Given the description of an element on the screen output the (x, y) to click on. 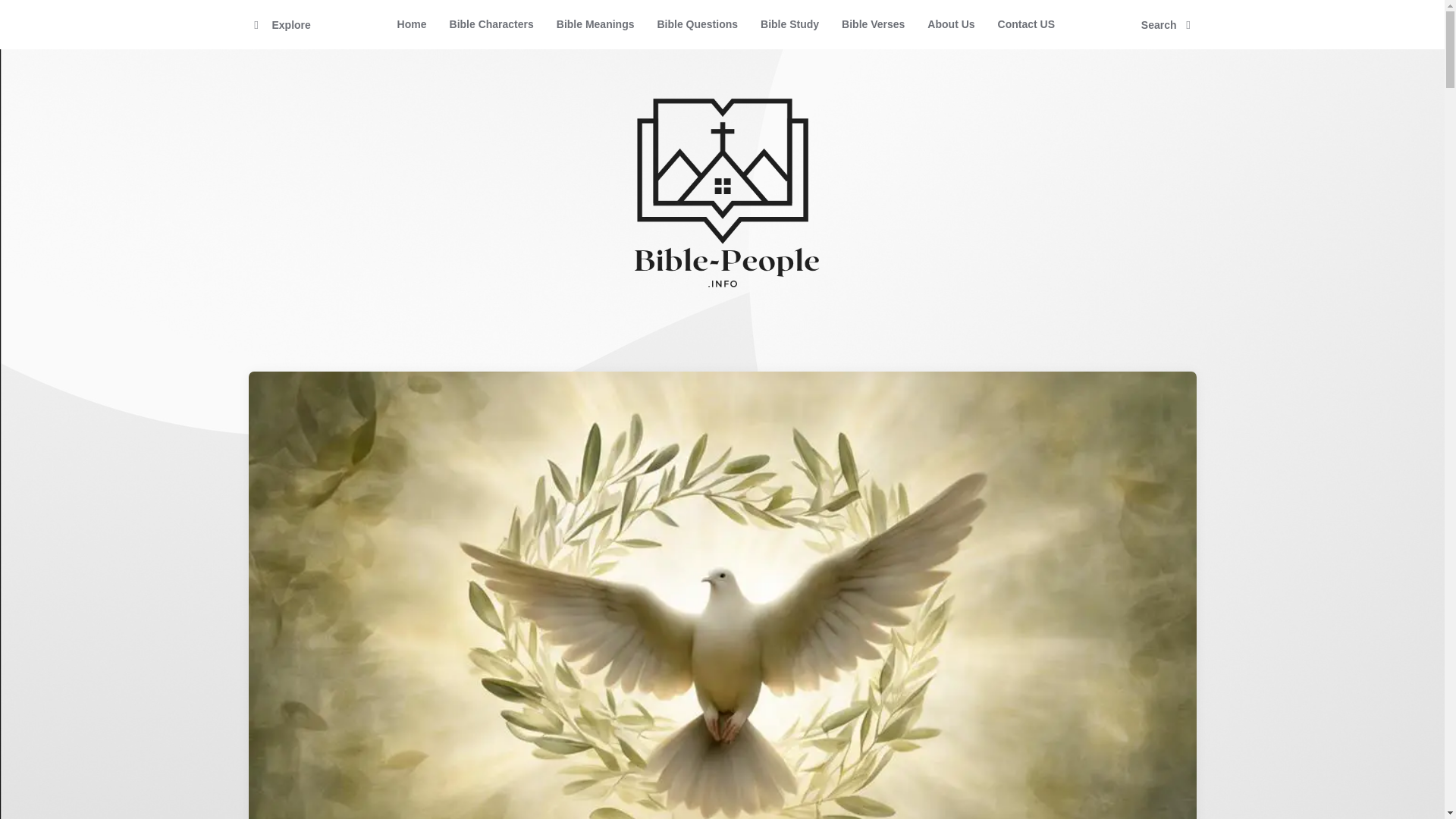
Contact US (1026, 24)
Bible Characters (491, 24)
Bible Study (789, 24)
Bible Questions (697, 24)
Bible Verses (872, 24)
About Us (950, 24)
Bible Meanings (595, 24)
Home (411, 24)
